Given the description of an element on the screen output the (x, y) to click on. 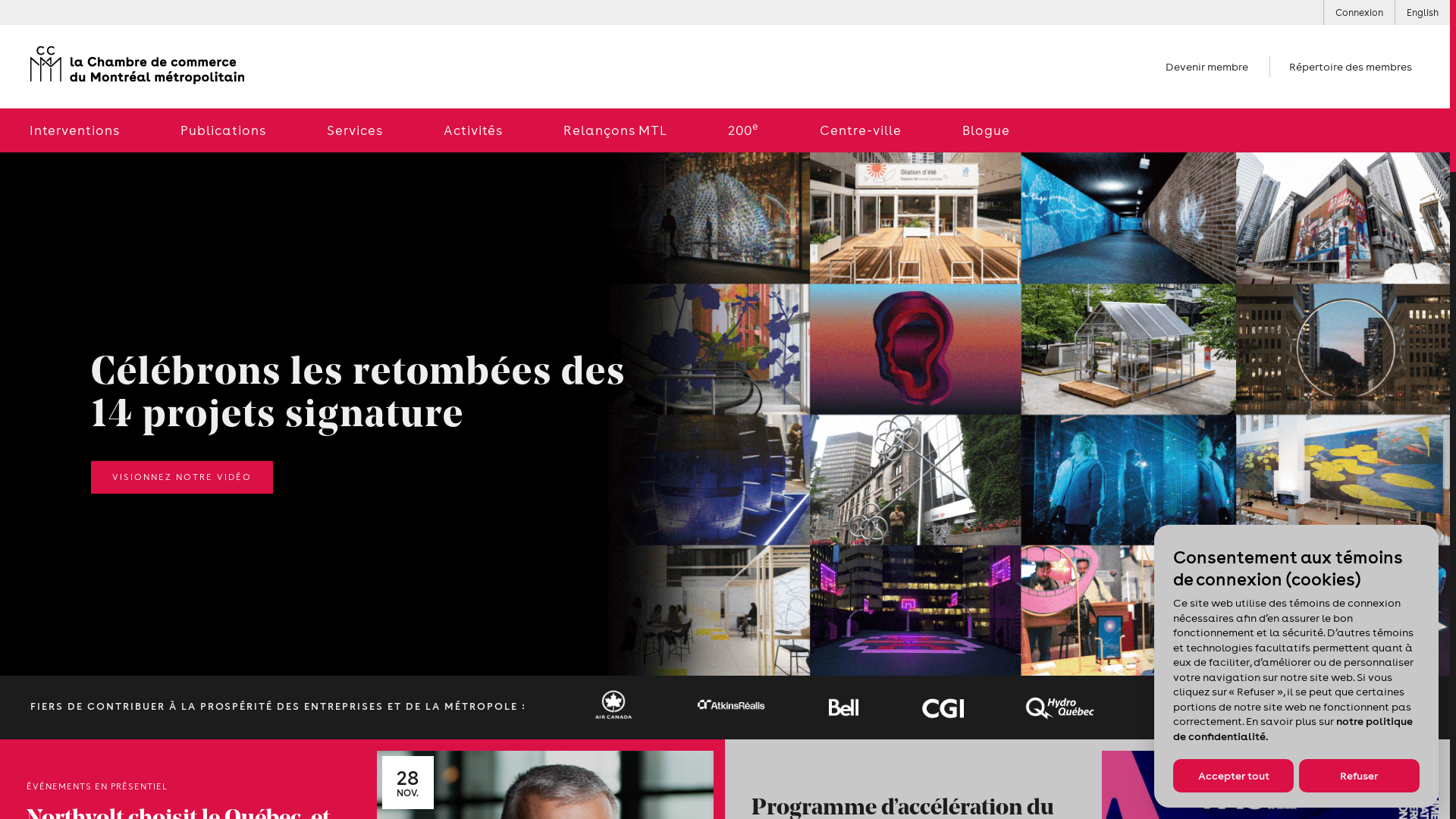
200e Element type: text (743, 130)
Devenir membre Element type: text (1206, 66)
Refuser Element type: text (1359, 775)
Centre-ville Element type: text (860, 130)
Connexion Element type: text (1358, 12)
Accepter tout Element type: text (1233, 775)
Publications Element type: text (223, 130)
Blogue Element type: text (985, 130)
Services Element type: text (354, 130)
English Element type: text (1421, 12)
